Given the description of an element on the screen output the (x, y) to click on. 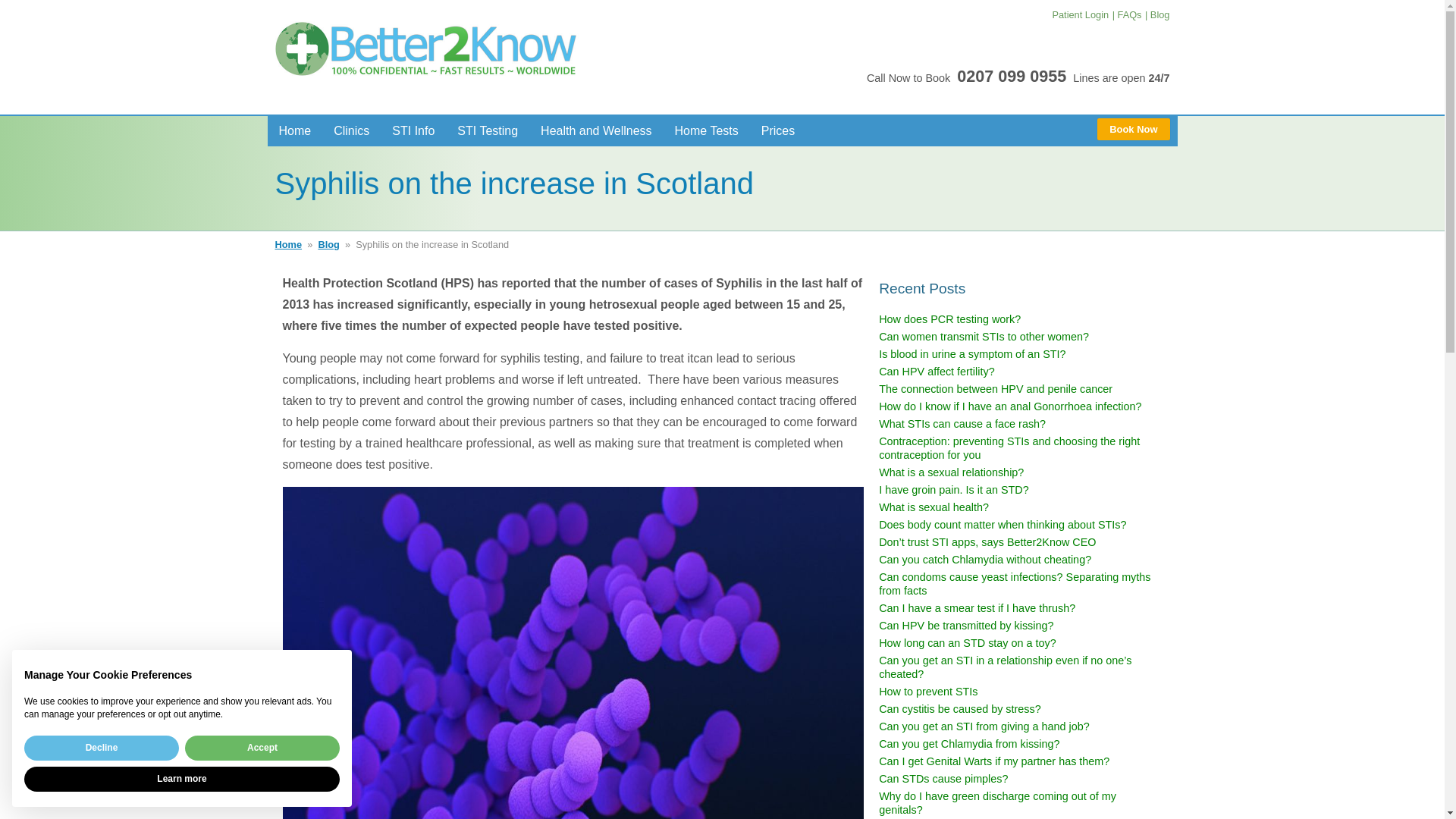
Home (293, 130)
STI Info (412, 130)
FAQs (1126, 14)
STI Testing (487, 130)
Clinics (350, 130)
Blog (1157, 14)
Home (293, 130)
Patient Login (1079, 14)
Clinics (350, 130)
STI Info (412, 130)
